Given the description of an element on the screen output the (x, y) to click on. 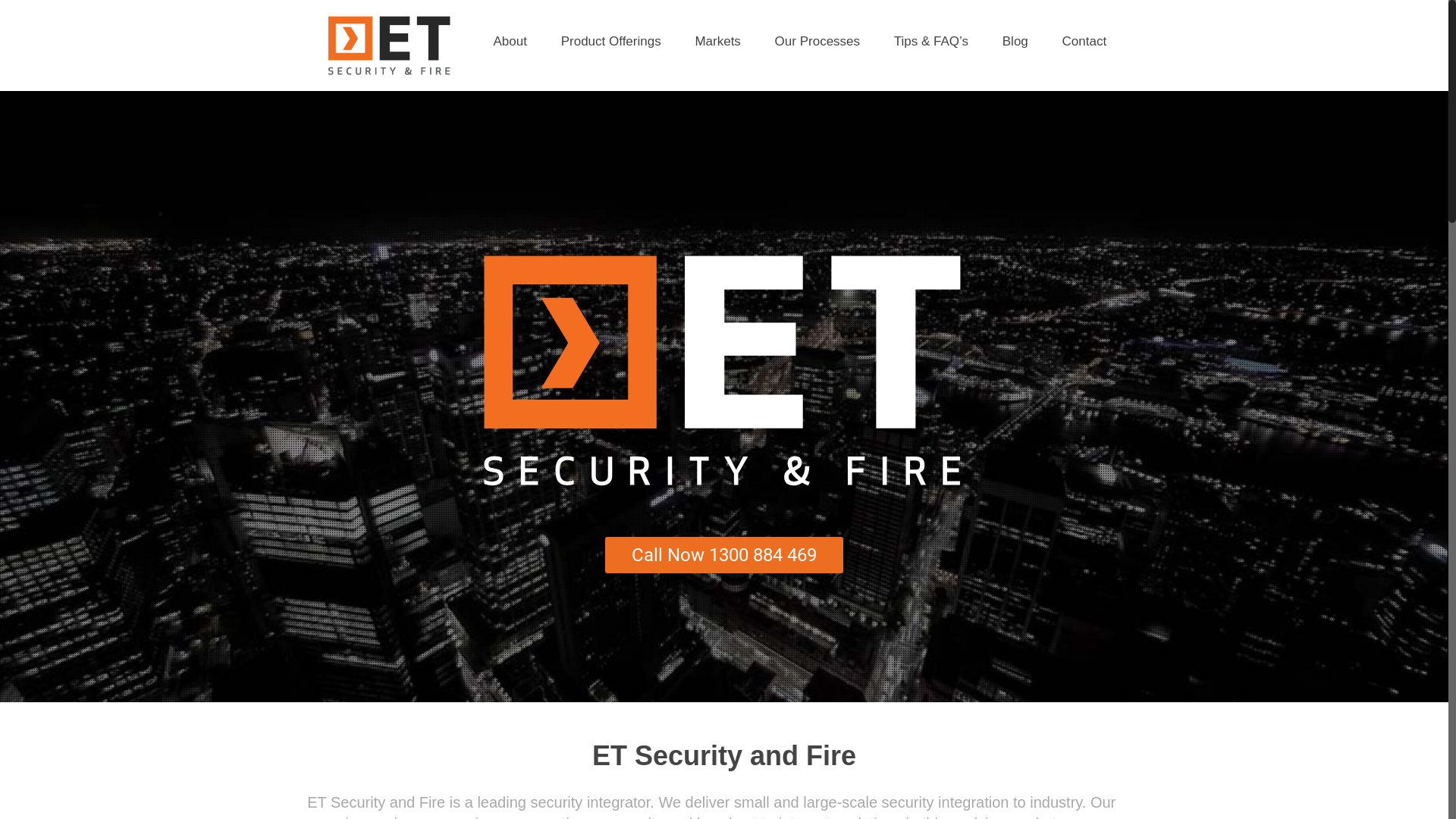
Blog Element type: text (1015, 41)
Product Offerings Element type: text (611, 41)
About Element type: text (510, 41)
ET Security Element type: hover (388, 45)
Our Processes Element type: text (817, 41)
Markets Element type: text (717, 41)
Contact Element type: text (1084, 41)
